Given the description of an element on the screen output the (x, y) to click on. 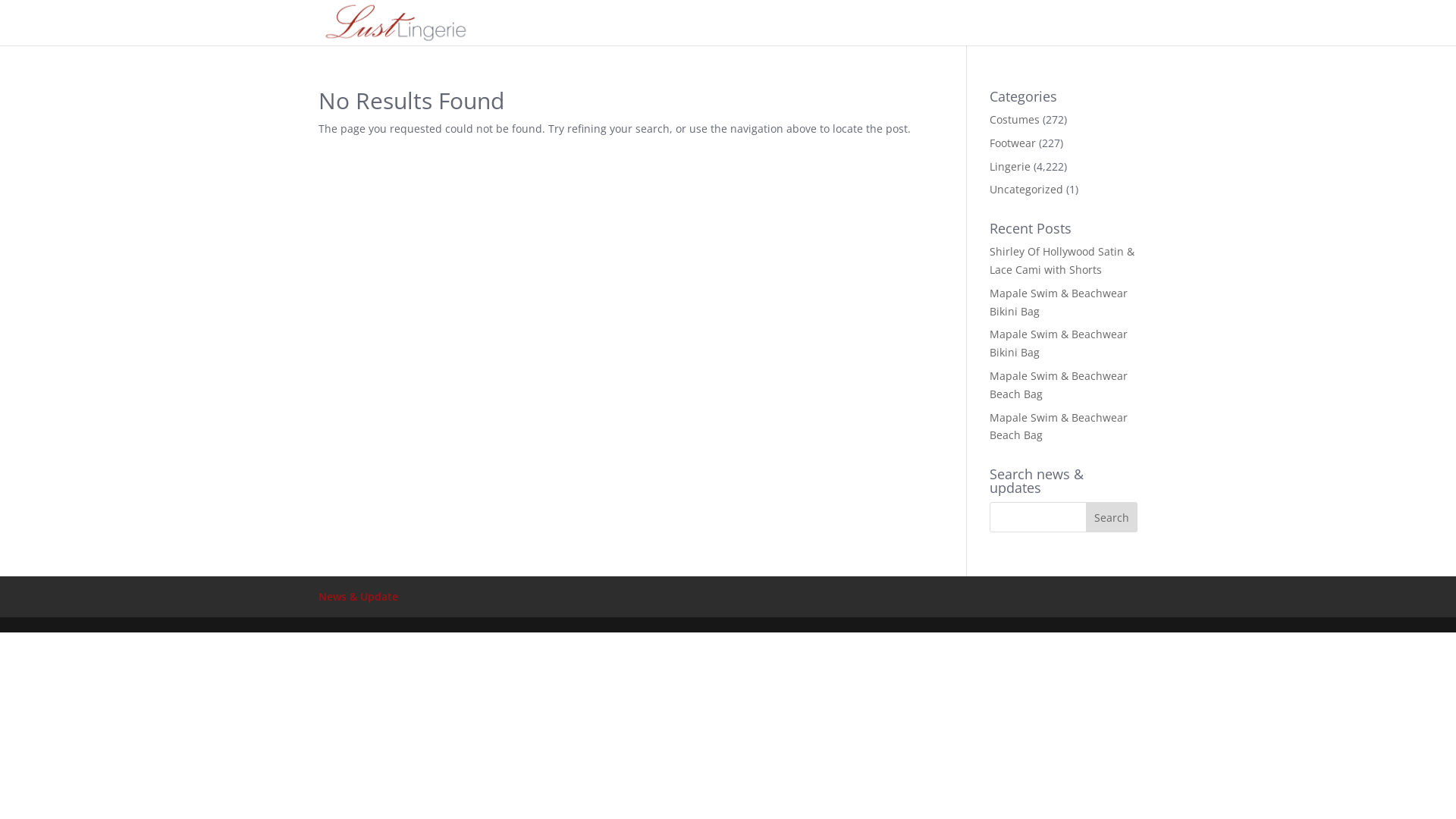
Lingerie Element type: text (1009, 166)
Search Element type: text (1111, 517)
News & Update Element type: text (358, 596)
Mapale Swim & Beachwear Beach Bag Element type: text (1058, 426)
Costumes Element type: text (1014, 119)
Shirley Of Hollywood Satin & Lace Cami with Shorts Element type: text (1061, 260)
Uncategorized Element type: text (1026, 189)
Mapale Swim & Beachwear Bikini Bag Element type: text (1058, 342)
Mapale Swim & Beachwear Beach Bag Element type: text (1058, 384)
Mapale Swim & Beachwear Bikini Bag Element type: text (1058, 301)
Footwear Element type: text (1012, 142)
